Given the description of an element on the screen output the (x, y) to click on. 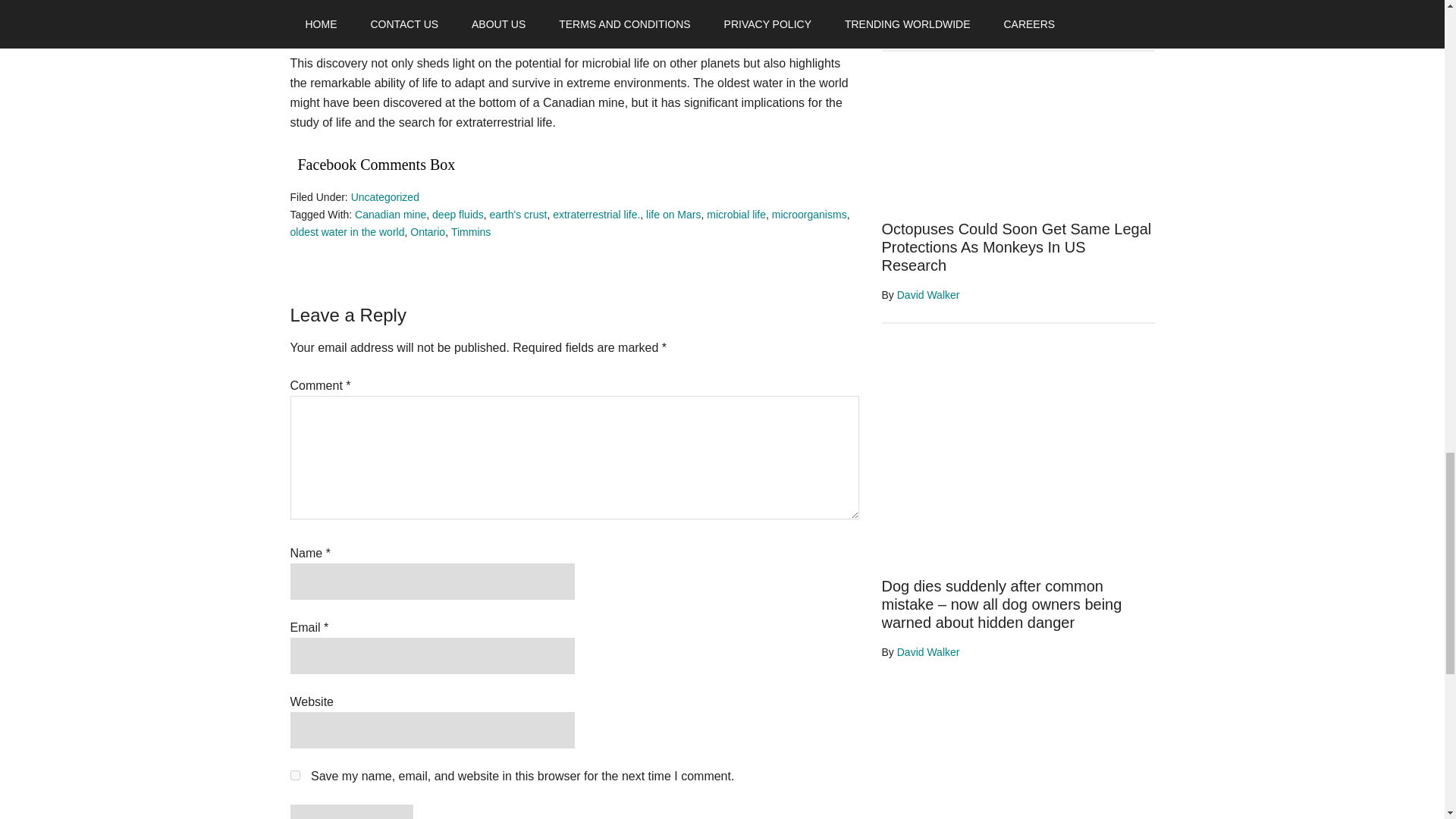
Post Comment (350, 811)
Canadian mine (390, 214)
Ontario (427, 232)
Post Comment (350, 811)
life on Mars (673, 214)
extraterrestrial life. (596, 214)
earth's crust (518, 214)
microbial life (735, 214)
yes (294, 775)
deep fluids (457, 214)
Timmins (470, 232)
microorganisms (809, 214)
Uncategorized (384, 196)
oldest water in the world (346, 232)
